Given the description of an element on the screen output the (x, y) to click on. 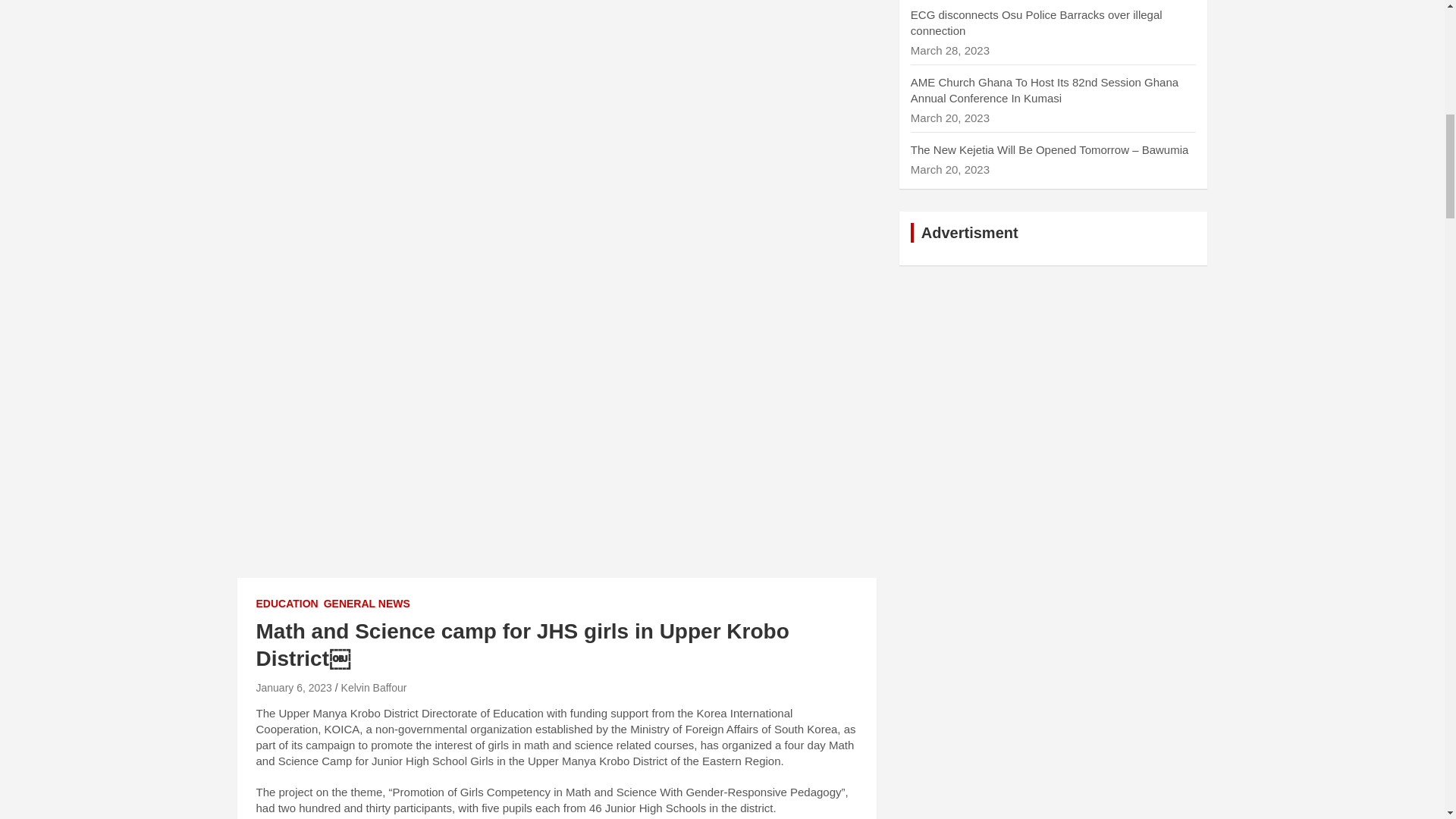
January 6, 2023 (293, 687)
Advertisement (555, 91)
ECG disconnects Osu Police Barracks over illegal connection (1036, 22)
Kelvin Baffour (373, 687)
EDUCATION (287, 604)
GENERAL NEWS (366, 604)
